Given the description of an element on the screen output the (x, y) to click on. 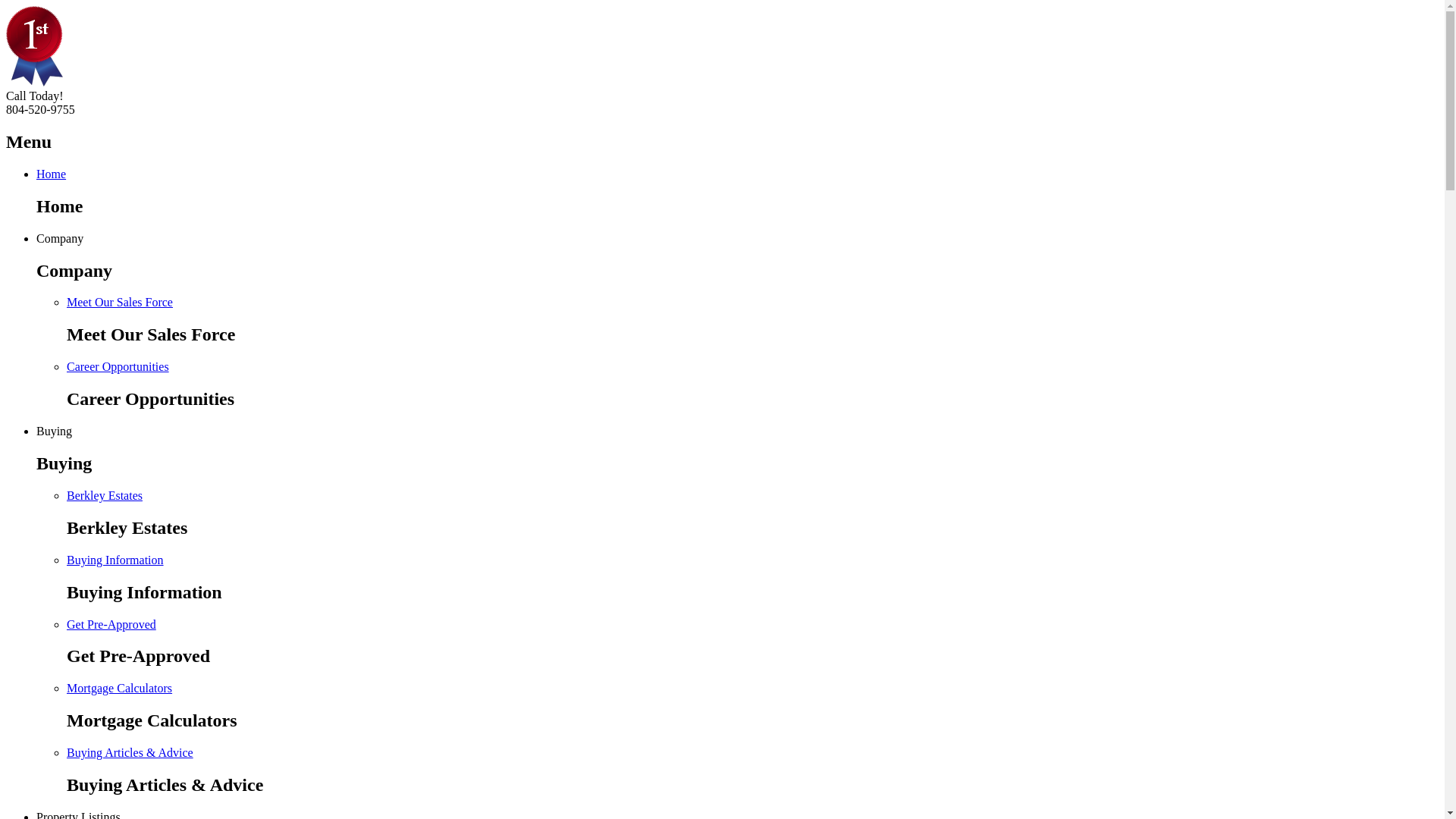
Mortgage Calculators Element type: text (119, 687)
Home Element type: text (50, 173)
Get Pre-Approved Element type: text (111, 623)
Buying Articles & Advice Element type: text (129, 752)
Berkley Estates Element type: text (104, 495)
Meet Our Sales Force Element type: text (119, 301)
Company Element type: text (59, 238)
Career Opportunities Element type: text (117, 366)
Buying Element type: text (54, 430)
Buying Information Element type: text (114, 559)
